Given the description of an element on the screen output the (x, y) to click on. 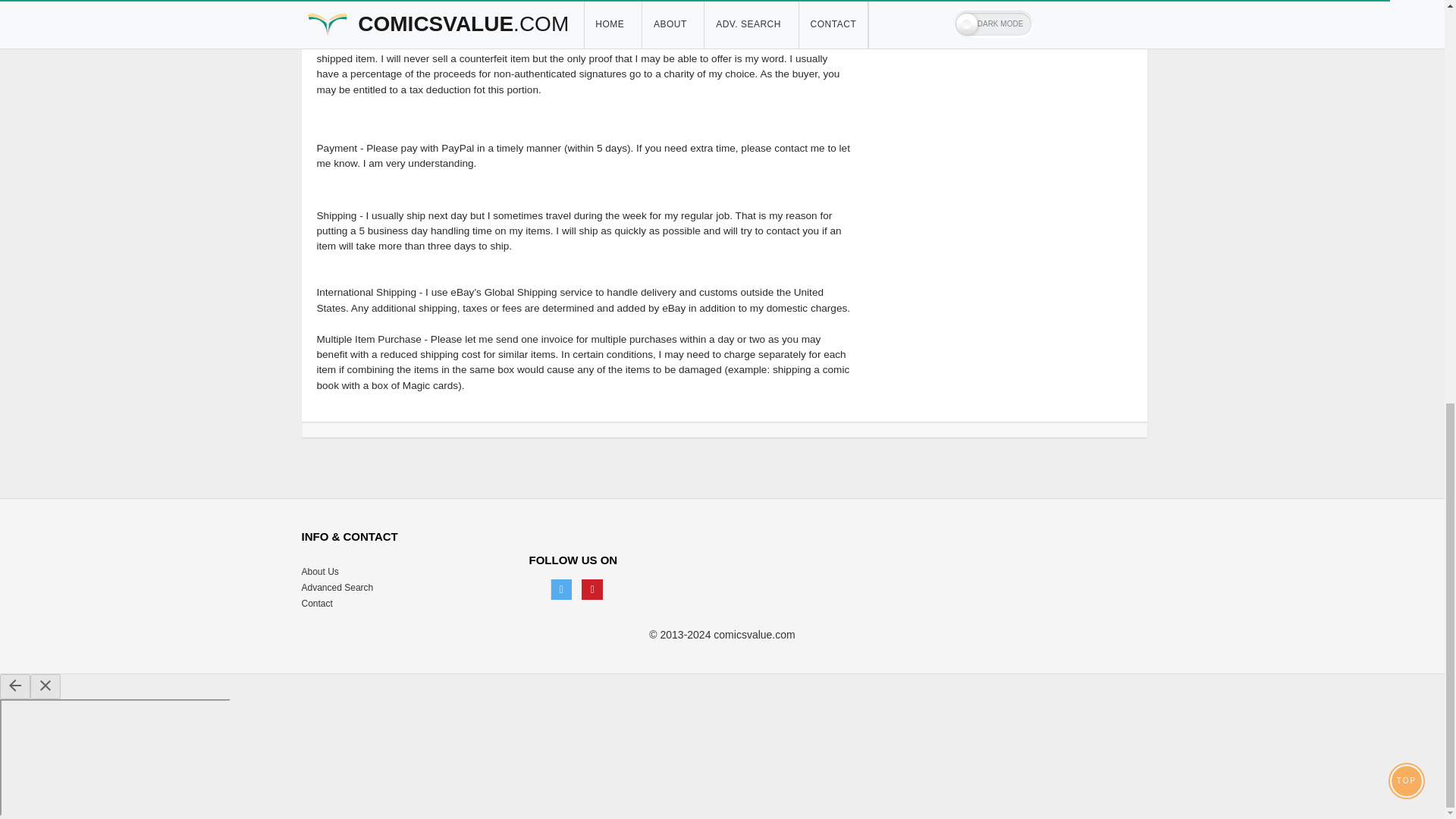
Advanced Search (337, 587)
About Us (320, 571)
FOLLOW US ON (650, 565)
Contact (317, 603)
